Given the description of an element on the screen output the (x, y) to click on. 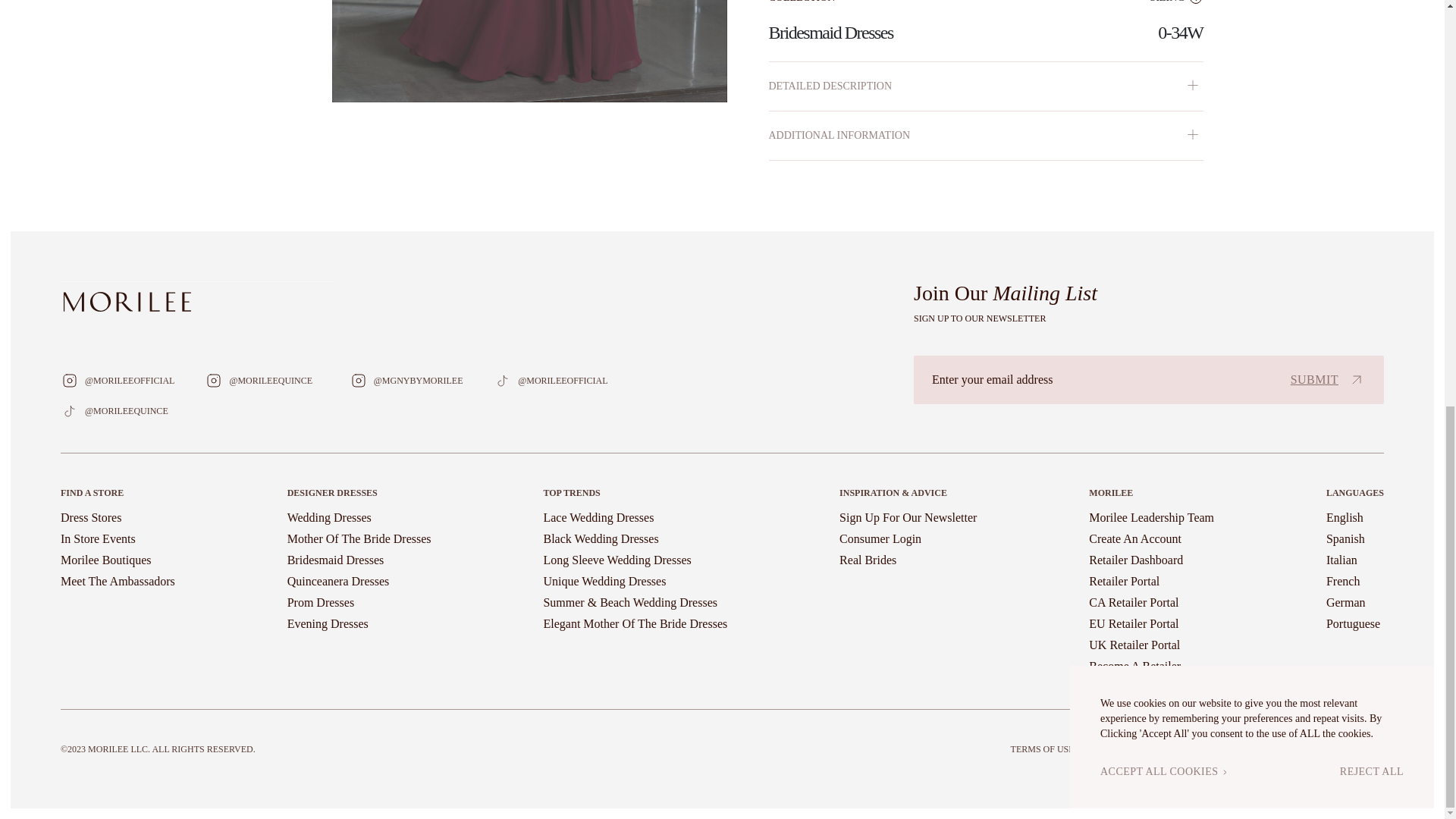
Meet The Ambassadors (117, 581)
Morilee Boutiques (106, 559)
DETAILED DESCRIPTION (986, 86)
Mother Of The Bride Dresses (358, 538)
In Store Events (98, 538)
Open Modal (528, 51)
Wedding Dresses (328, 517)
SUBMIT (1327, 380)
ADDITIONAL INFORMATION (986, 135)
Dress Stores (90, 517)
